Given the description of an element on the screen output the (x, y) to click on. 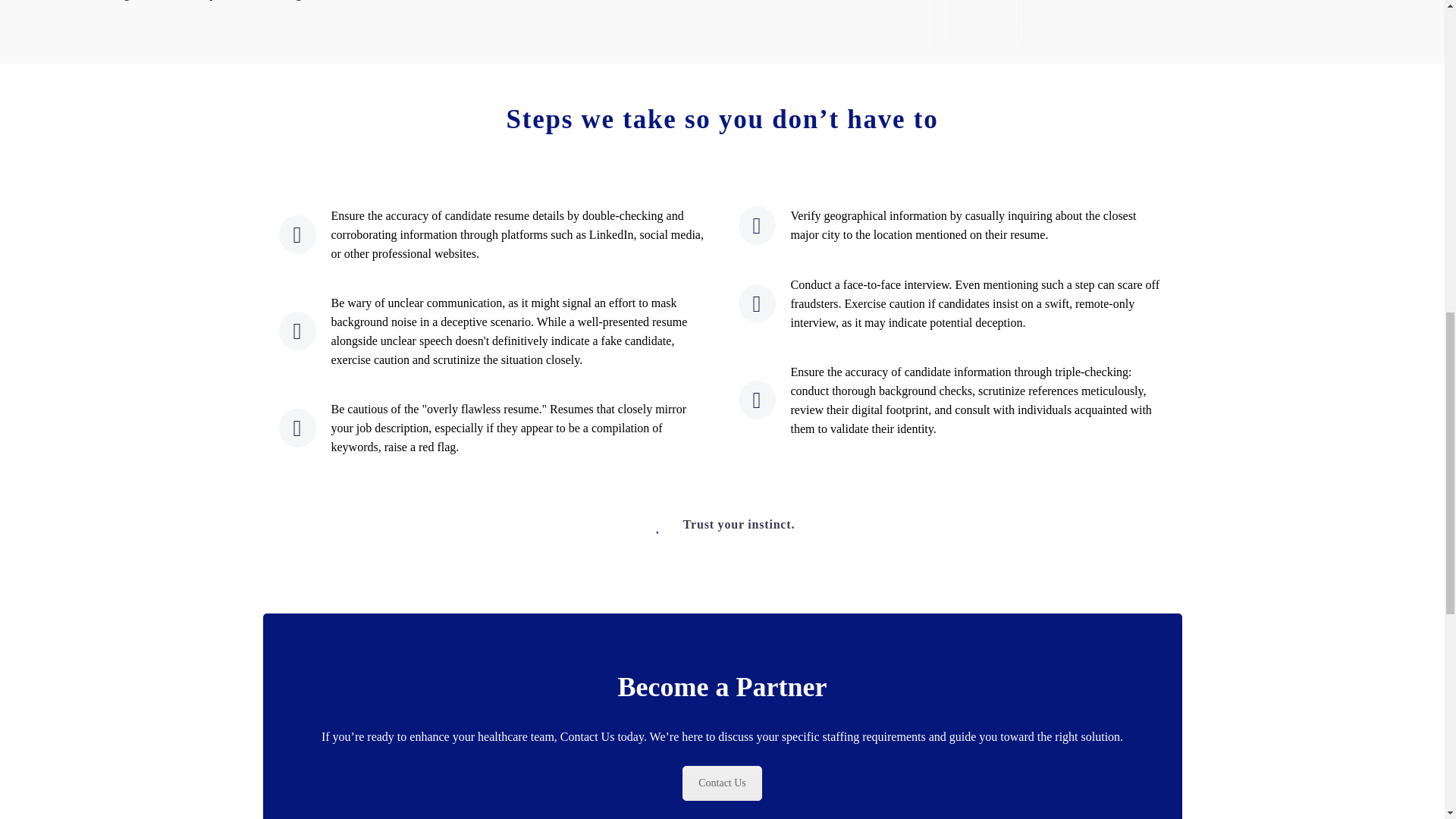
Contact Us (721, 782)
Untitled design (1046, 24)
